Given the description of an element on the screen output the (x, y) to click on. 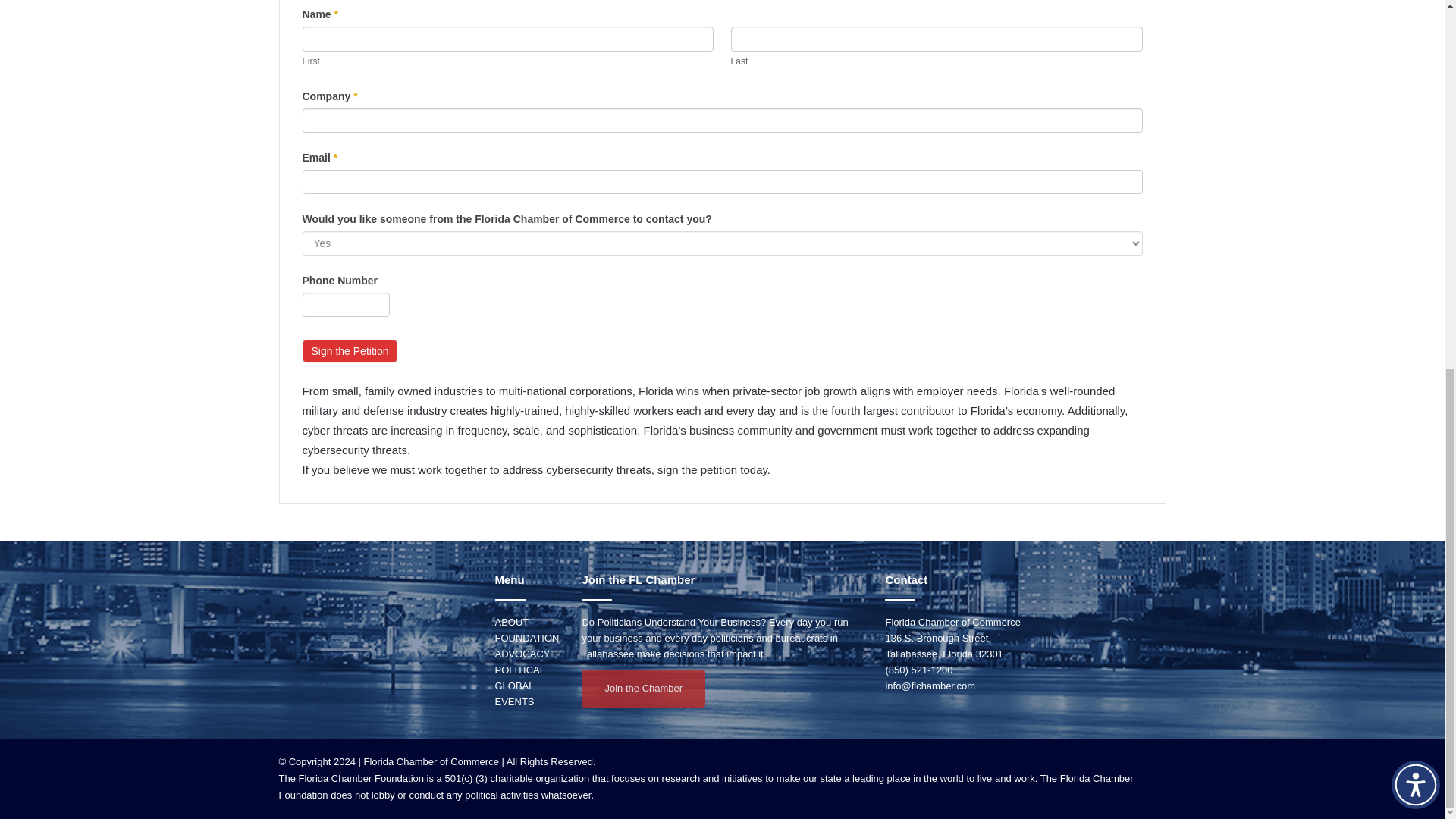
Sign the Petition (349, 350)
Accessibility Menu (1415, 116)
